Given the description of an element on the screen output the (x, y) to click on. 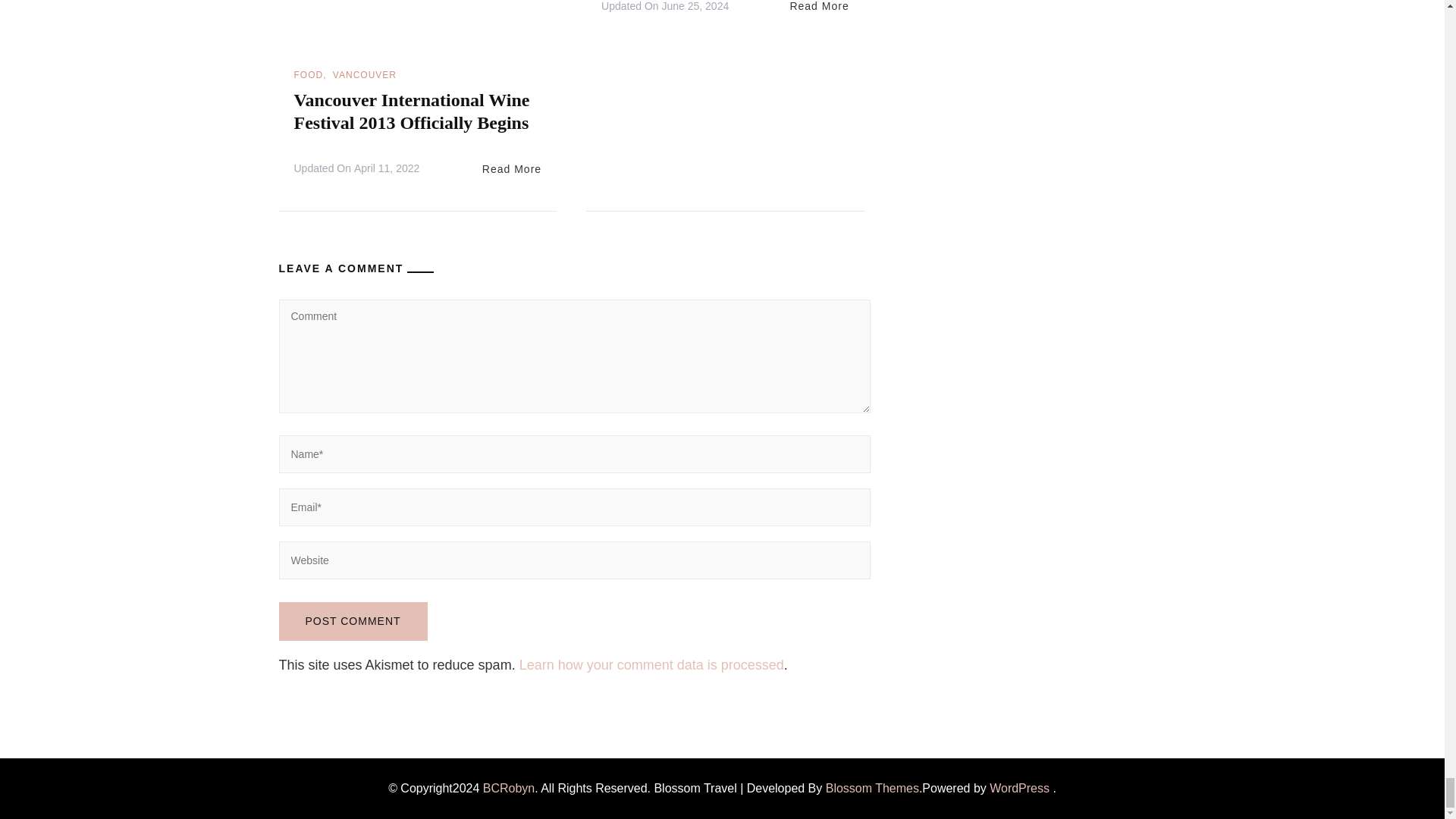
Post Comment (353, 620)
